Given the description of an element on the screen output the (x, y) to click on. 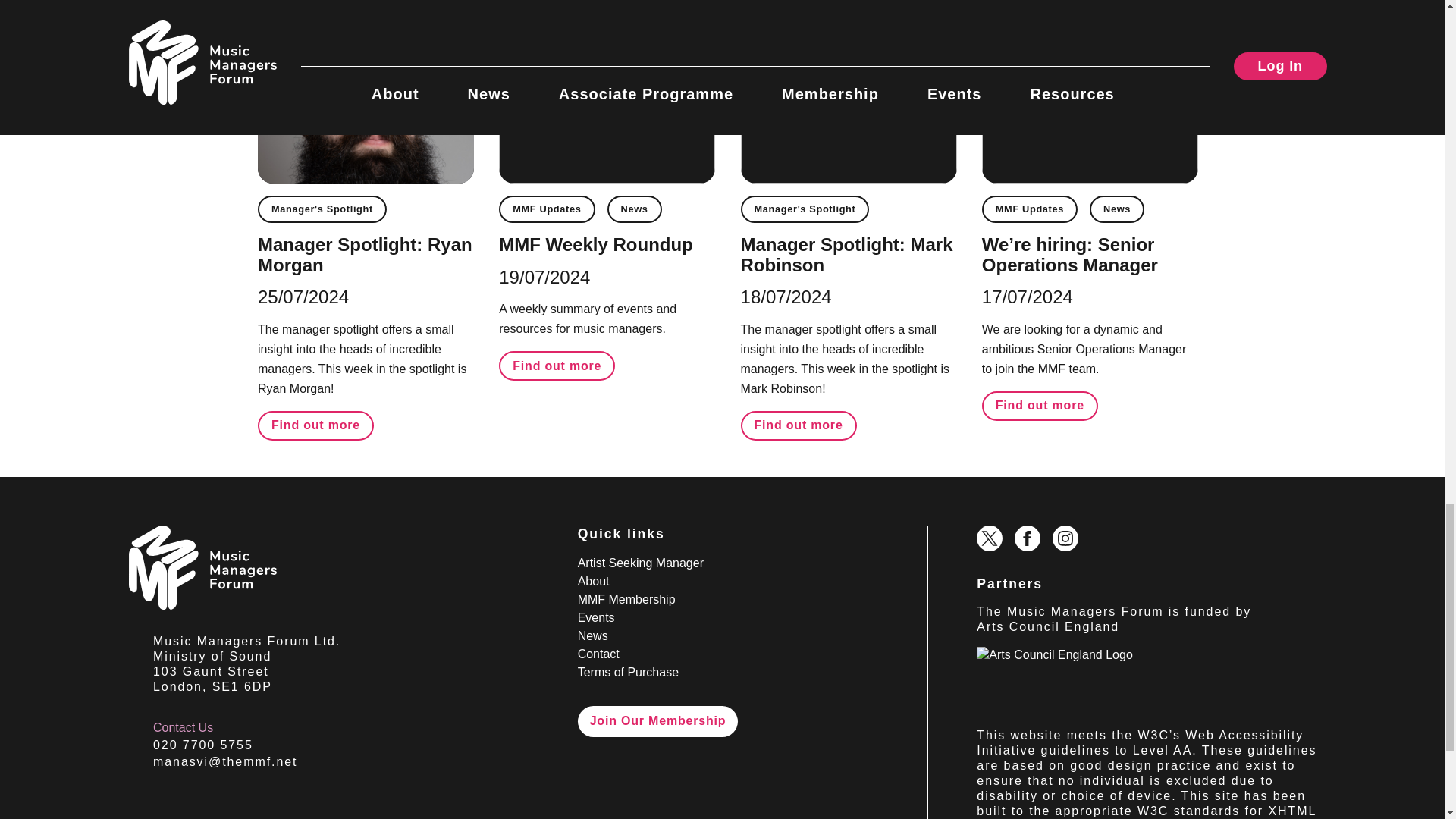
Find out more (799, 425)
News (1116, 208)
020 7700 5755 (202, 744)
Find out more (556, 365)
Manager's Spotlight (805, 208)
MMF Updates (1029, 208)
News (634, 208)
Manager's Spotlight (322, 208)
Find out more (1039, 405)
Find out more (315, 425)
MMF Updates (546, 208)
Contact Us (182, 727)
